Given the description of an element on the screen output the (x, y) to click on. 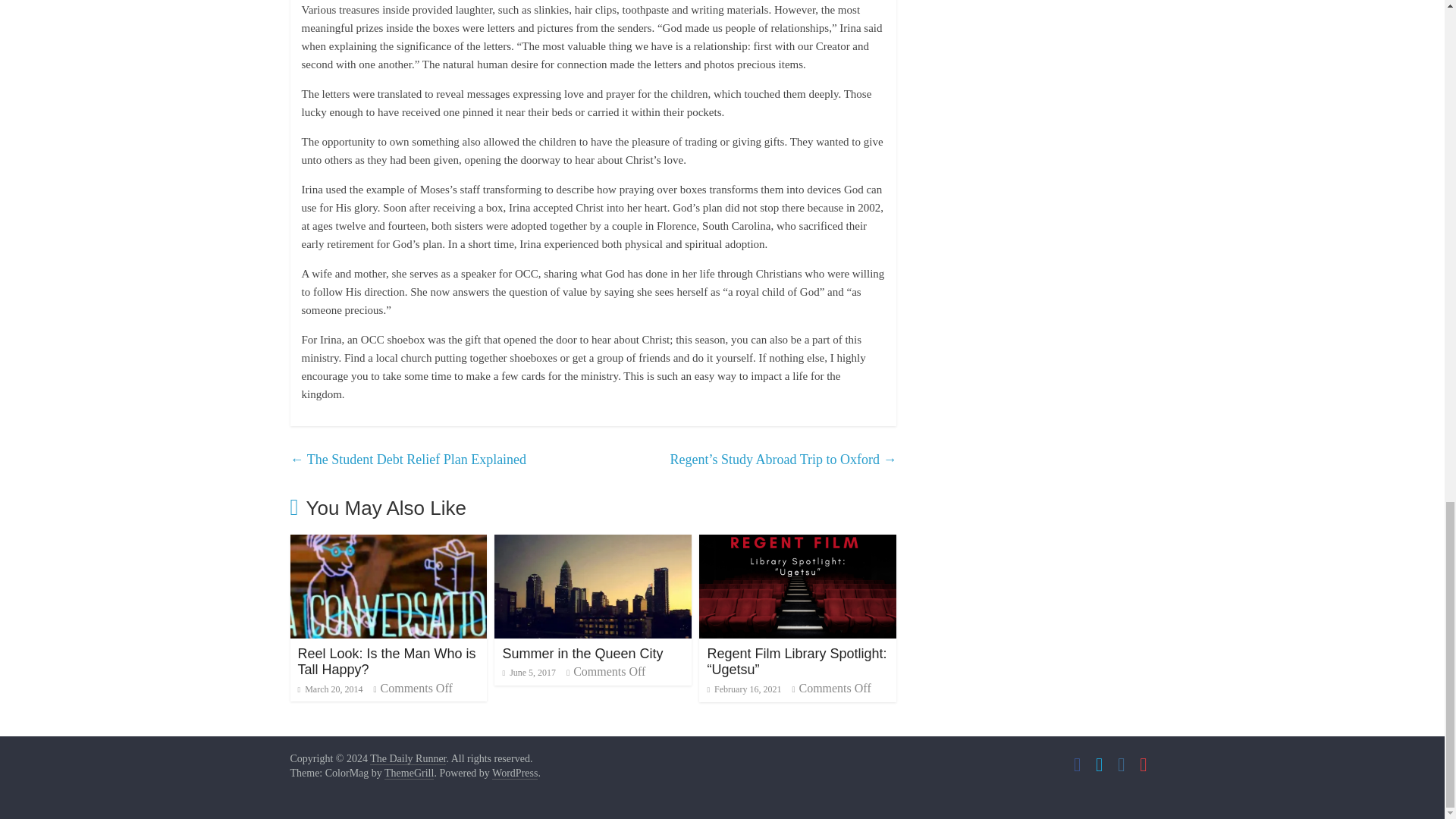
March 20, 2014 (329, 688)
Summer in the Queen City (582, 653)
Reel Look: Is the Man Who is Tall Happy? (386, 662)
11:28 am (329, 688)
Summer in the Queen City (582, 653)
11:47 pm (529, 672)
Reel Look: Is the Man Who is Tall Happy? (387, 543)
February 16, 2021 (743, 688)
June 5, 2017 (529, 672)
Reel Look: Is the Man Who is Tall Happy? (386, 662)
Summer in the Queen City (593, 543)
